Given the description of an element on the screen output the (x, y) to click on. 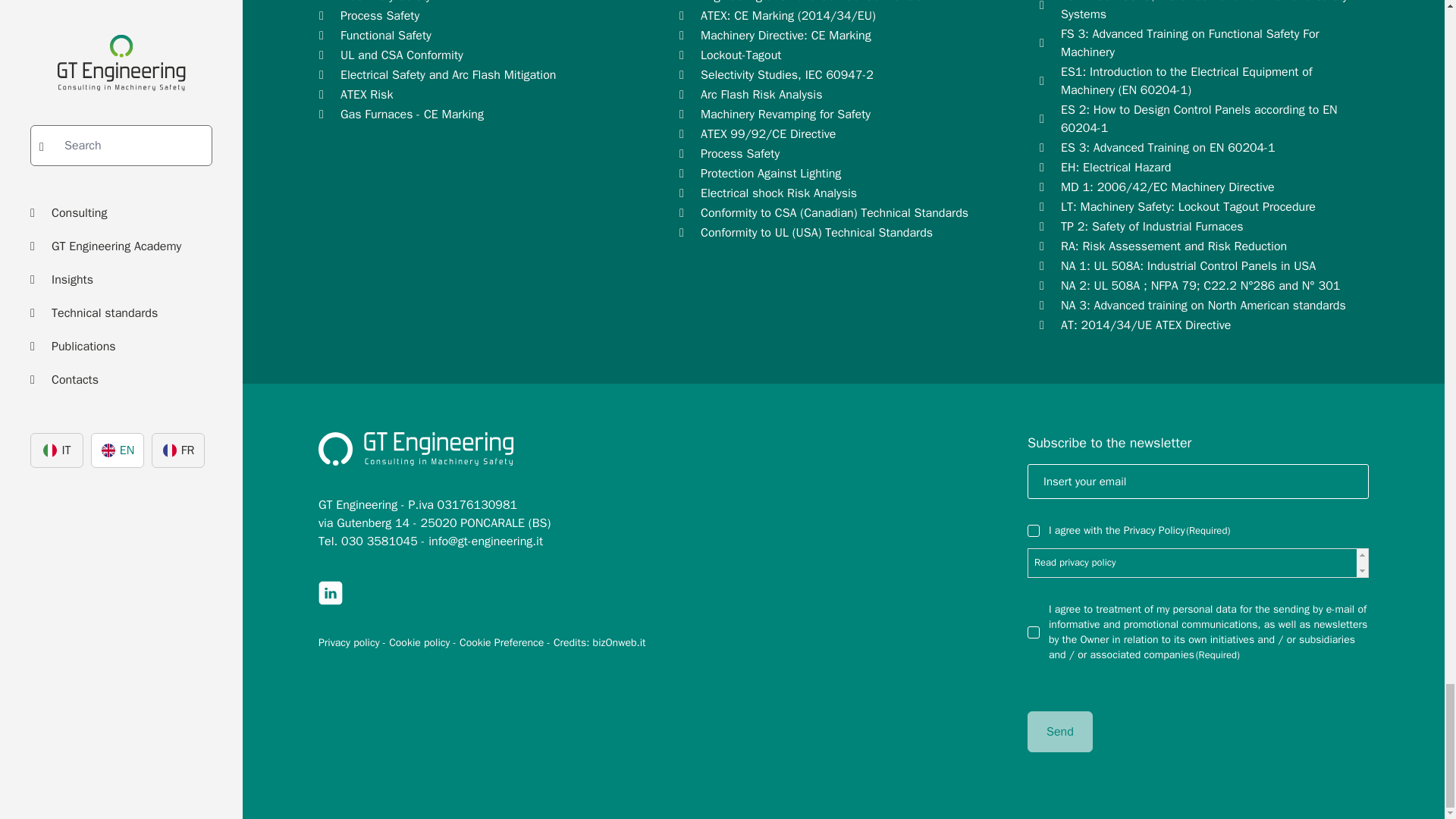
Send (1060, 731)
1 (1033, 632)
1 (1033, 530)
